Given the description of an element on the screen output the (x, y) to click on. 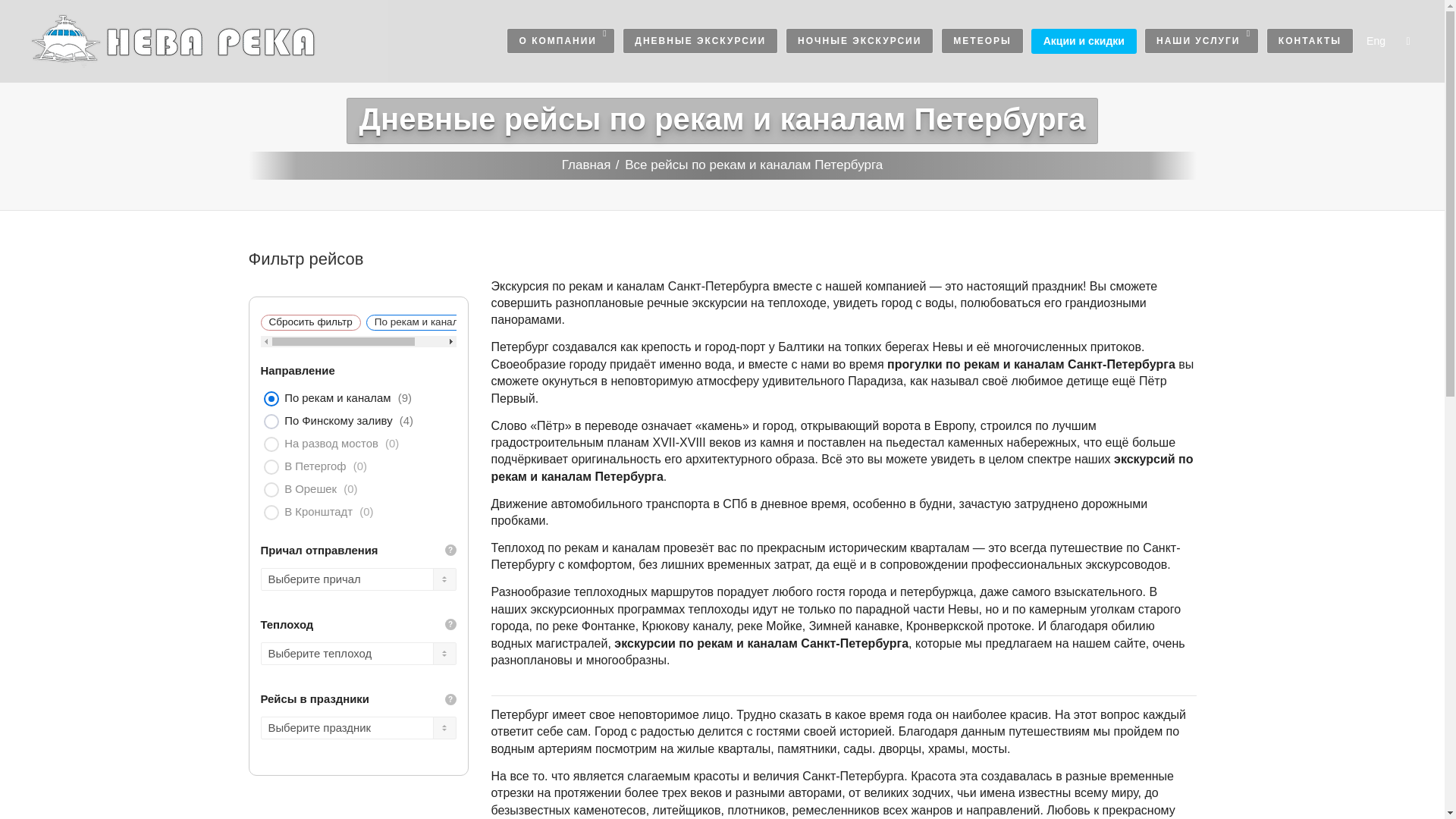
on (271, 398)
on (271, 444)
on (271, 489)
on (271, 467)
on (271, 512)
on (271, 421)
